Given the description of an element on the screen output the (x, y) to click on. 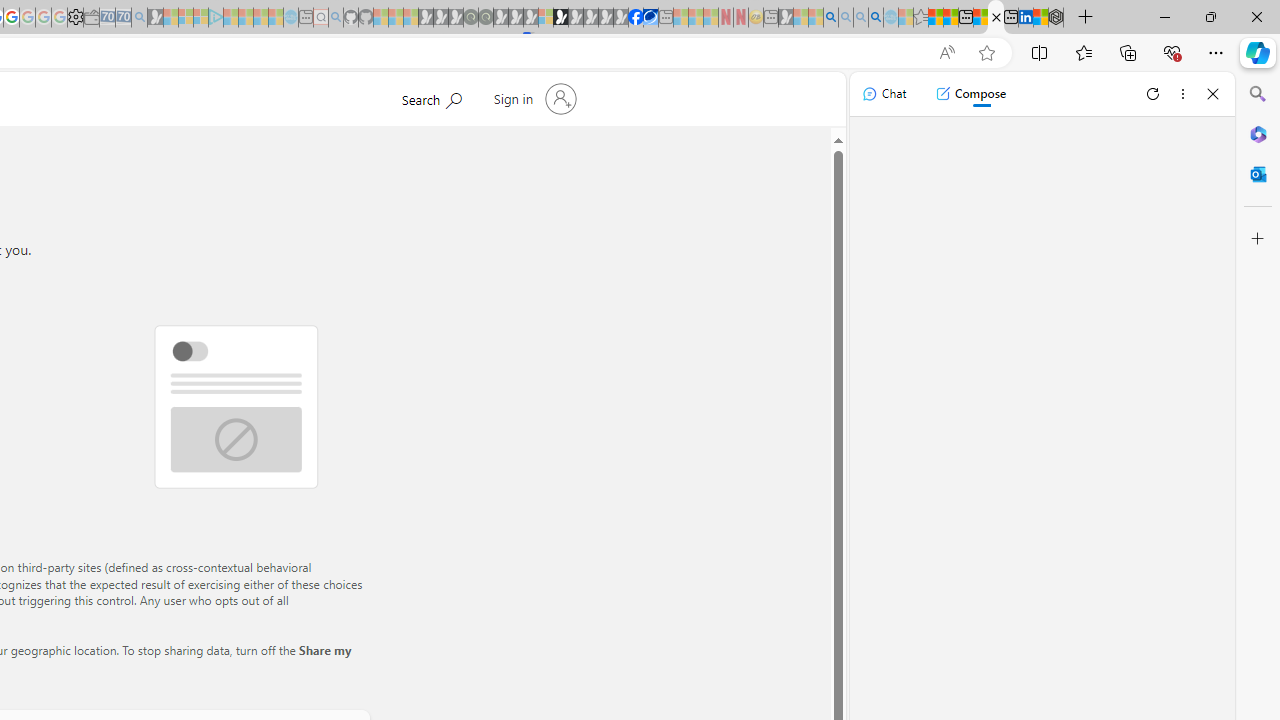
AQI & Health | AirNow.gov (650, 17)
Sign in to your account (532, 98)
Aberdeen, Hong Kong SAR weather forecast | Microsoft Weather (950, 17)
MSN - Sleeping (786, 17)
Search Microsoft.com (431, 97)
